Given the description of an element on the screen output the (x, y) to click on. 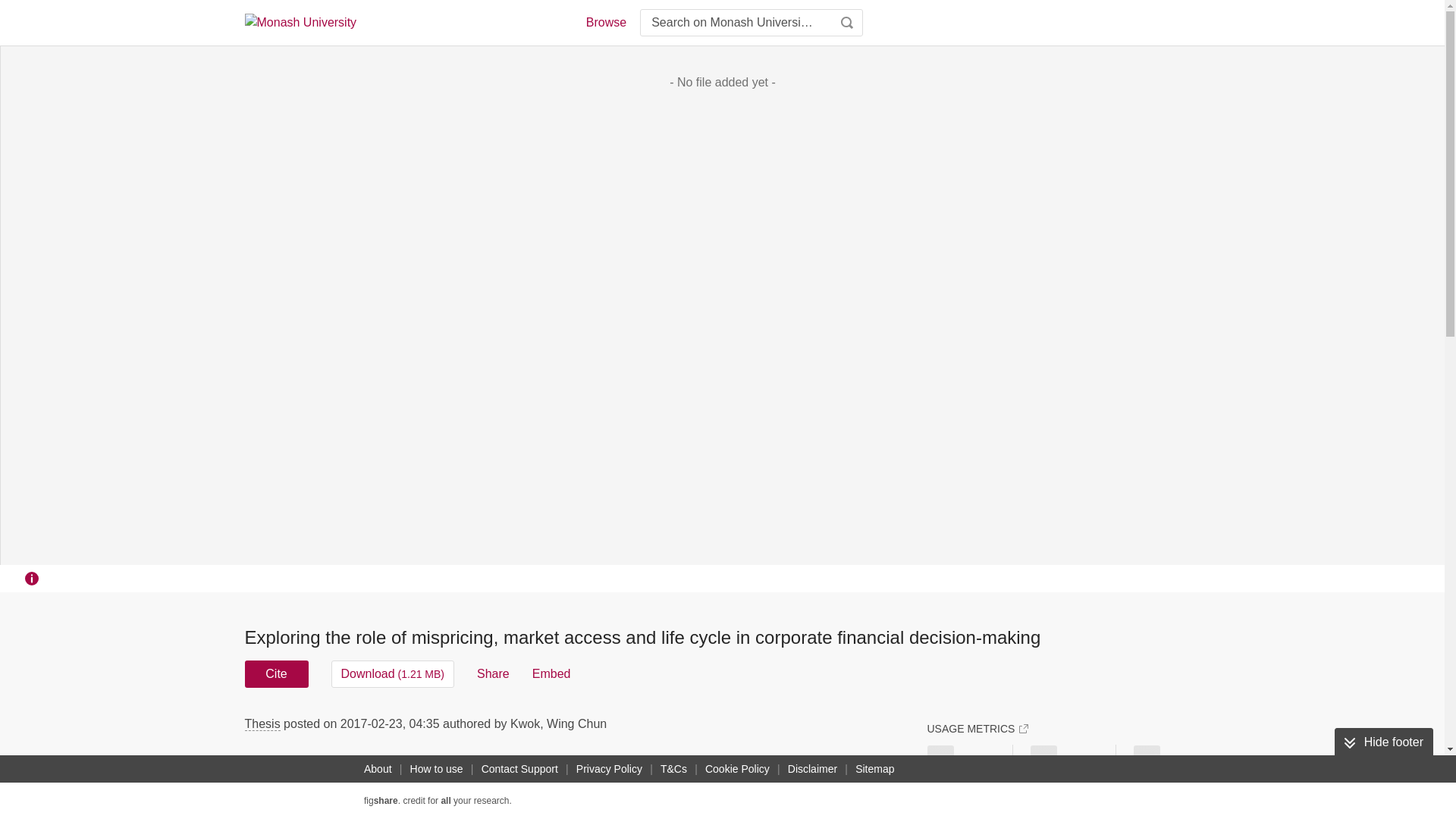
Cookie Policy (737, 769)
USAGE METRICS (976, 728)
Cite (275, 673)
Contact Support (519, 769)
Hide footer (1383, 742)
How to use (436, 769)
Embed (551, 673)
About (377, 769)
Browse (605, 22)
Disclaimer (812, 769)
